Given the description of an element on the screen output the (x, y) to click on. 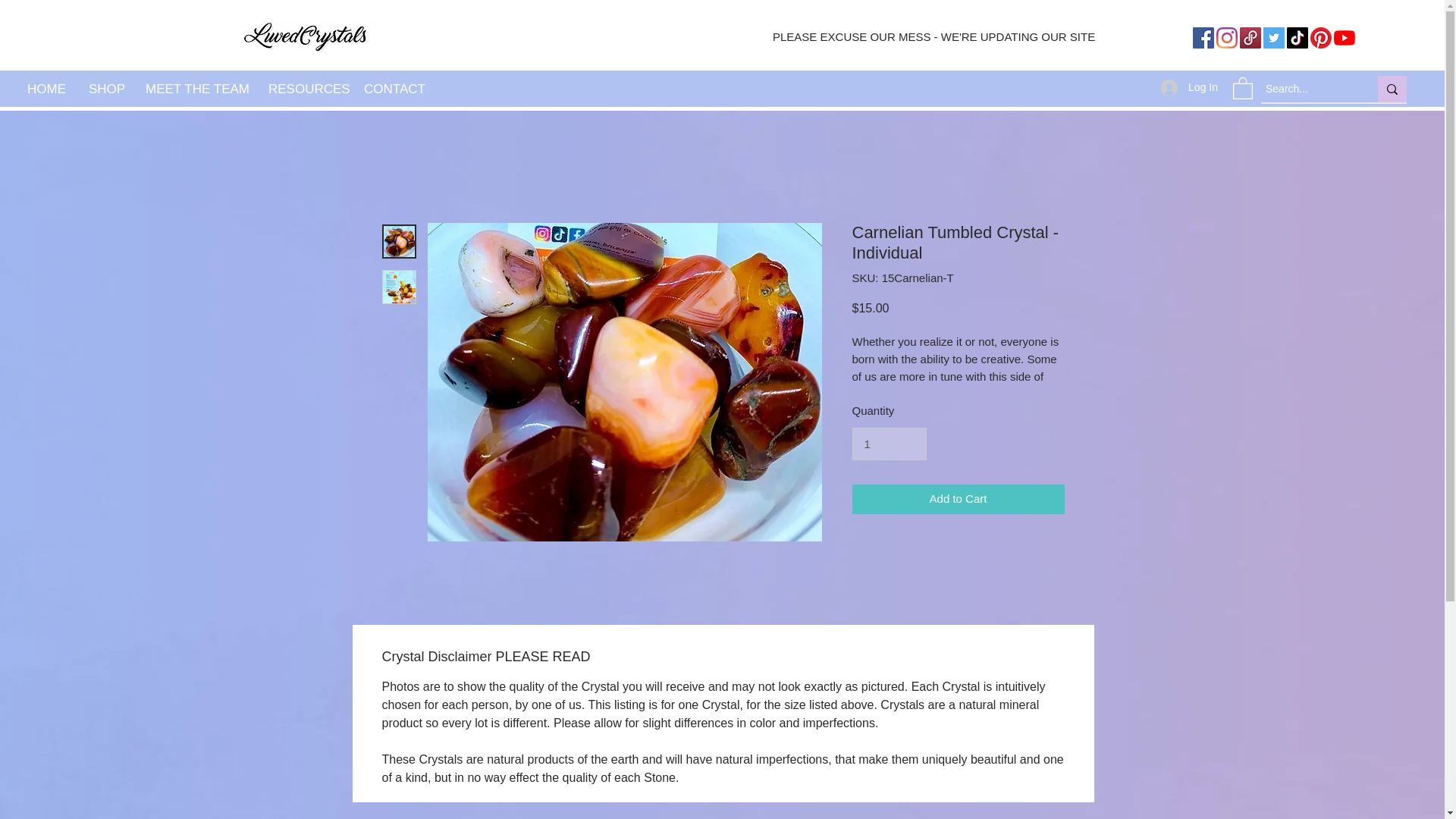
RESOURCES (304, 89)
SHOP (105, 89)
MEET THE TEAM (195, 89)
Log In (1189, 87)
1 (888, 444)
CONTACT (395, 89)
L.png (305, 36)
HOME (46, 89)
